Given the description of an element on the screen output the (x, y) to click on. 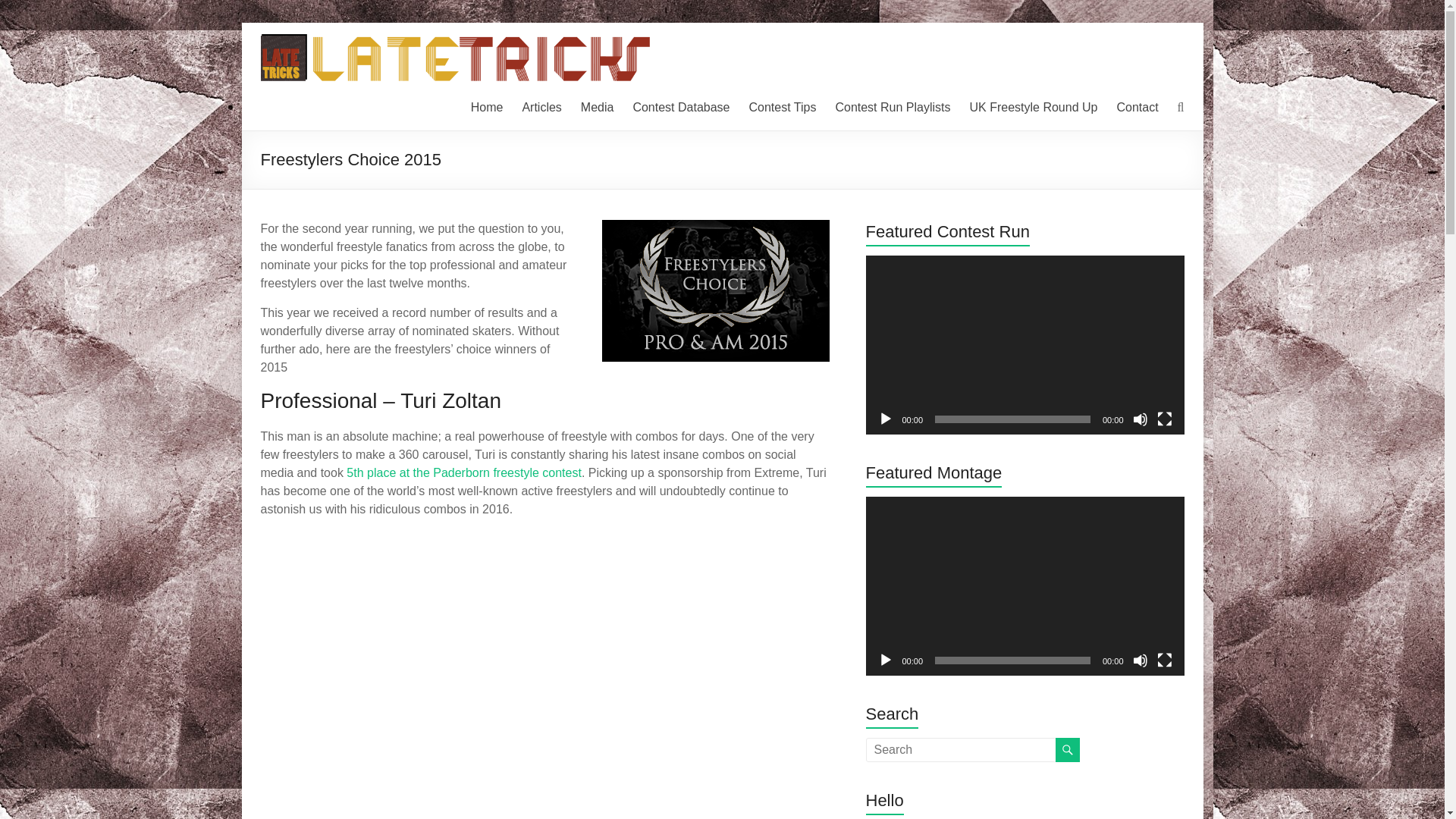
Contest Tips (781, 107)
Contact (1136, 107)
Contest Run Playlists (892, 107)
Contest Database (680, 107)
Media (597, 107)
UK Freestyle Round Up (1033, 107)
5th place at the Paderborn freestyle contest (463, 472)
Home (486, 107)
Articles (540, 107)
